Given the description of an element on the screen output the (x, y) to click on. 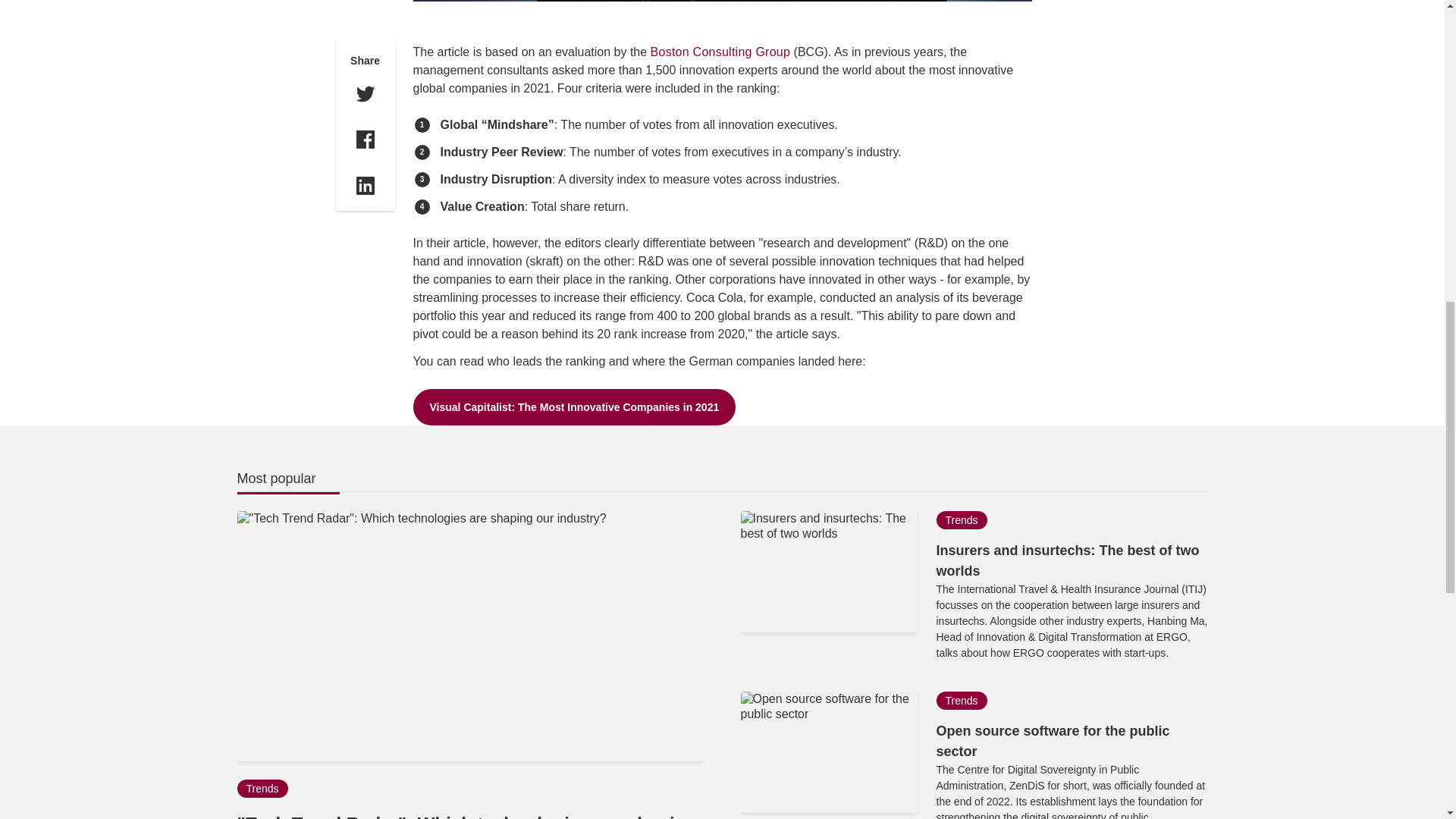
Boston Consulting Group (720, 51)
Visual Capitalist: The Most Innovative Companies in 2021 (573, 406)
